Given the description of an element on the screen output the (x, y) to click on. 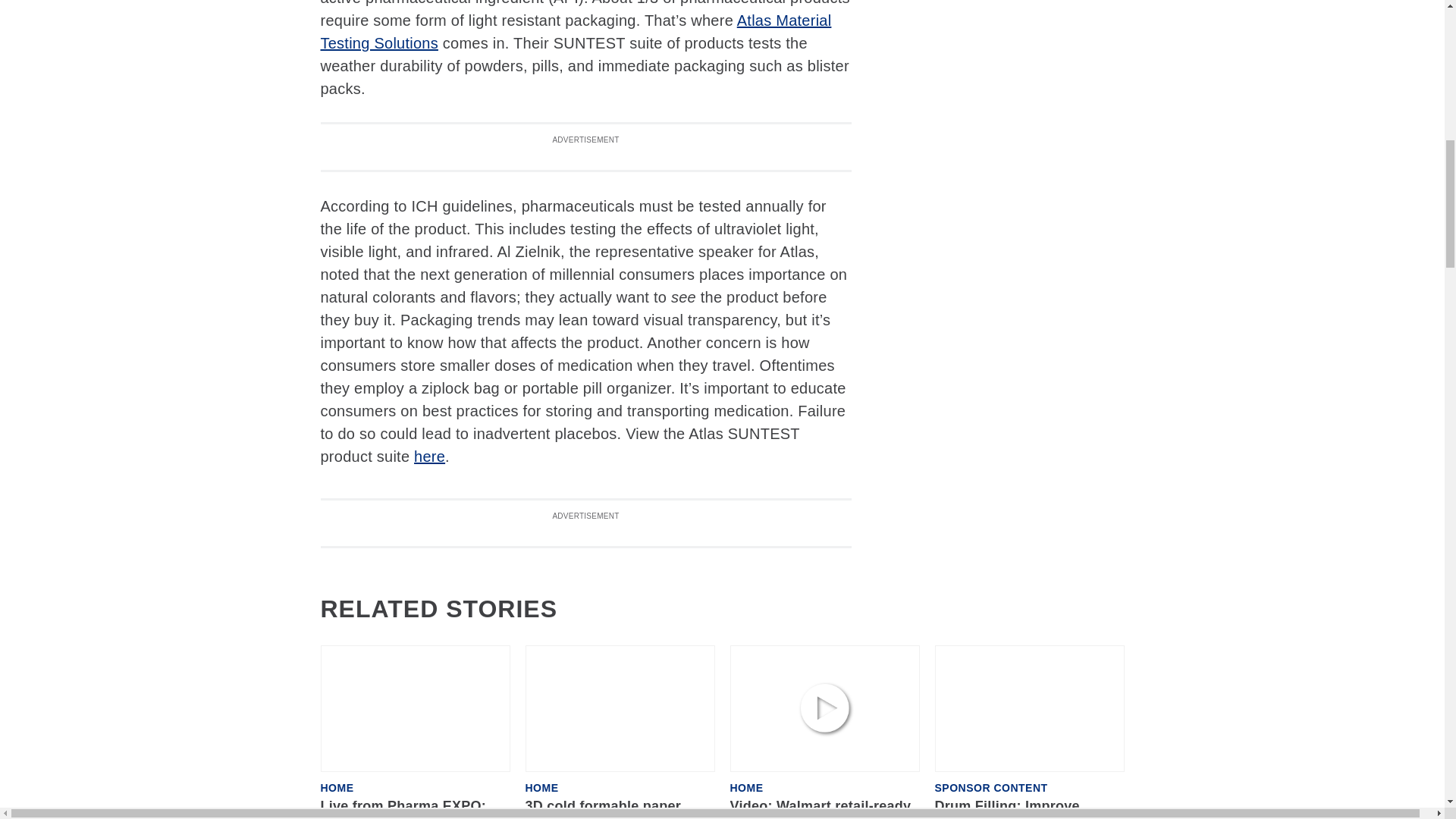
Home (745, 787)
Home (336, 787)
Sponsor Content (990, 787)
Home (540, 787)
